Given the description of an element on the screen output the (x, y) to click on. 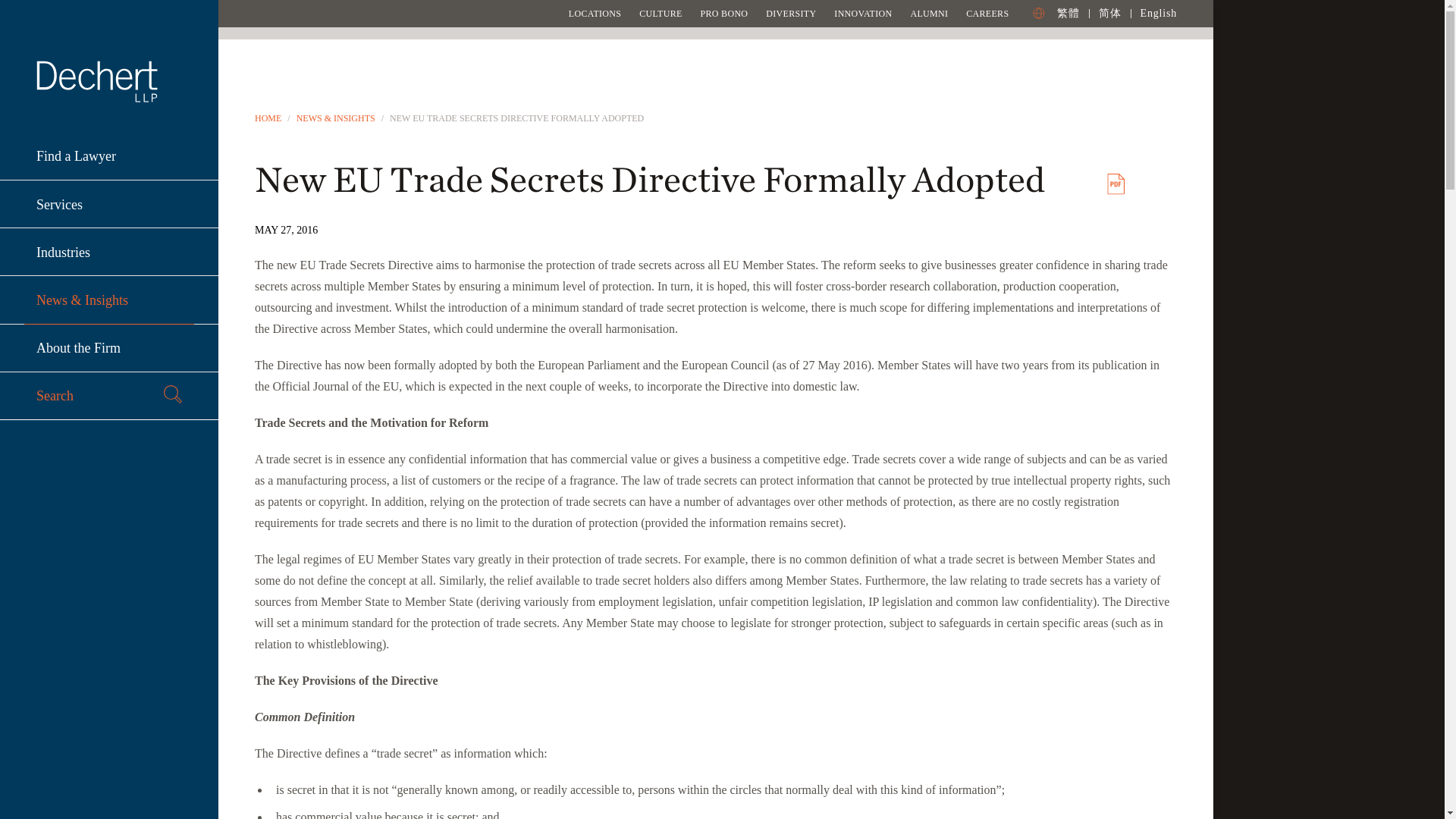
Find a Lawyer (108, 156)
PRO BONO (724, 13)
HOME (267, 118)
INNOVATION (862, 13)
CULTURE (660, 13)
English (1158, 12)
Services (108, 204)
CAREERS (987, 13)
Simplified Chinese (1110, 12)
Traditional Chinese (1068, 12)
